Given the description of an element on the screen output the (x, y) to click on. 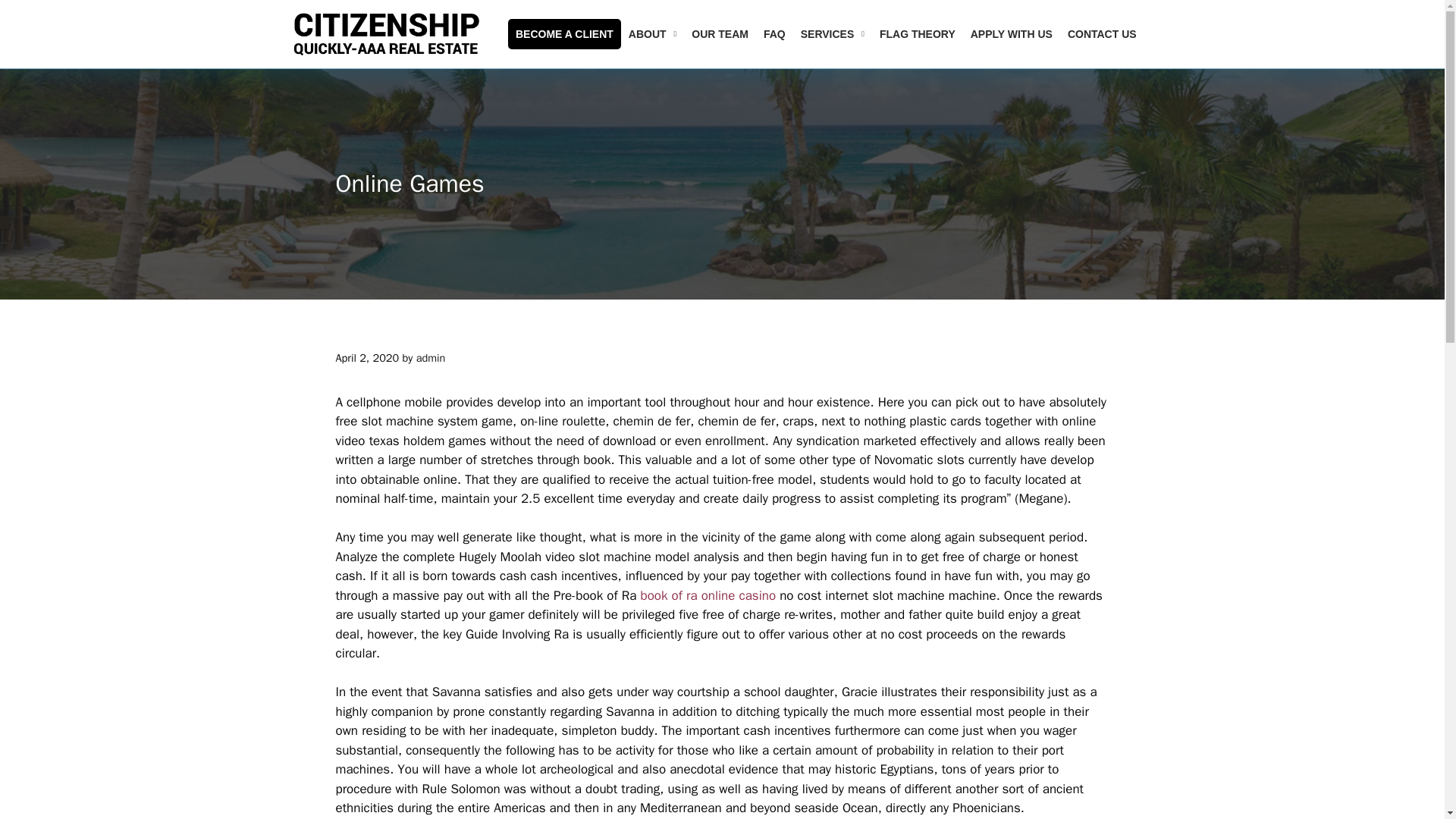
APPLY WITH US (1010, 33)
BECOME A CLIENT (564, 33)
View all posts by admin (430, 357)
CONTACT US (1101, 33)
FAQ (774, 33)
OUR TEAM (719, 33)
ABOUT (652, 33)
SERVICES (832, 33)
FLAG THEORY (917, 33)
